Given the description of an element on the screen output the (x, y) to click on. 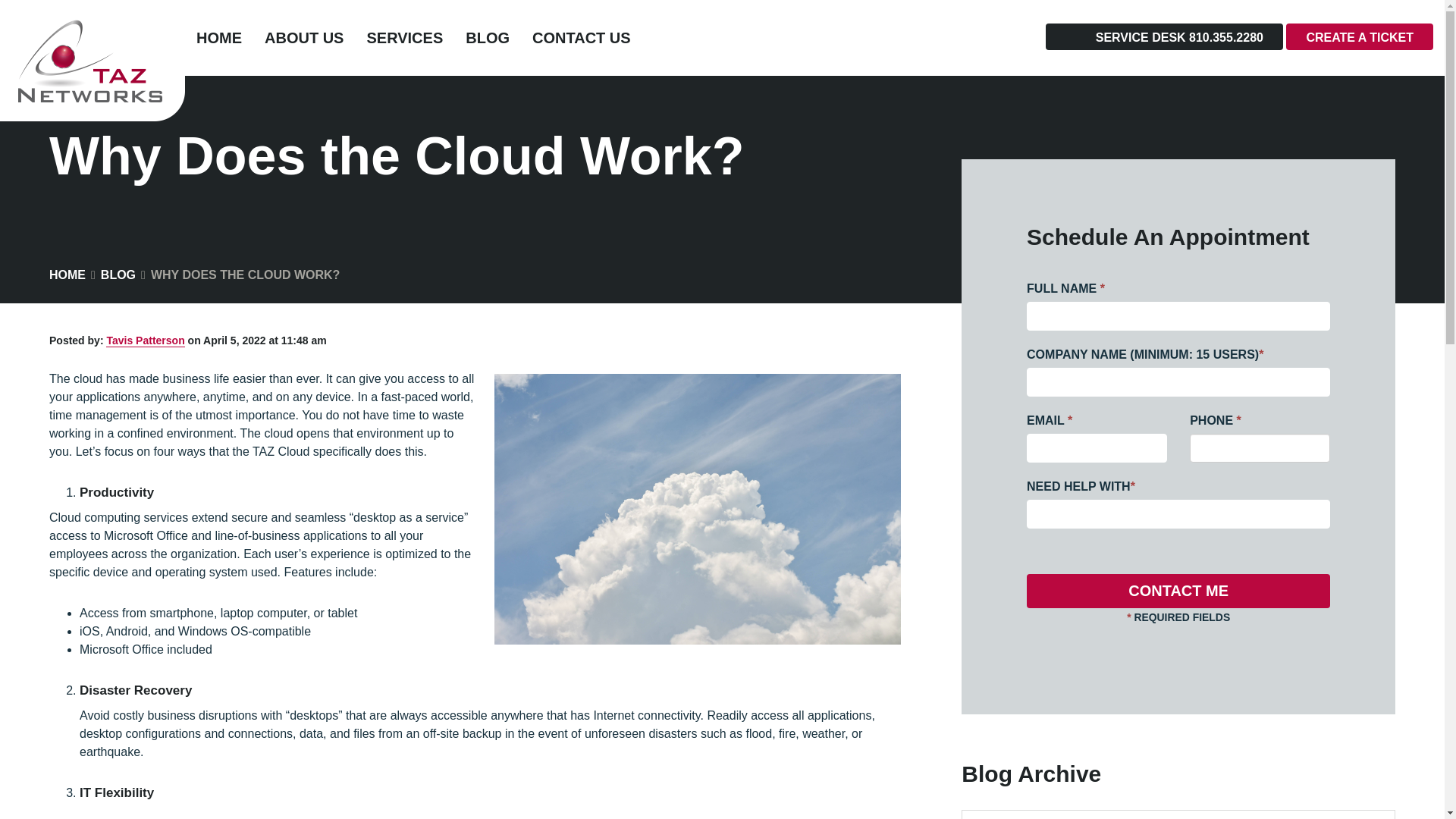
BLOG (487, 38)
Go to the Blog category archives. (117, 274)
Home (67, 274)
HOME (218, 38)
Posts by Tavis Patterson (145, 340)
ABOUT US (304, 38)
SERVICES (404, 38)
CONTACT ME (1178, 591)
